Given the description of an element on the screen output the (x, y) to click on. 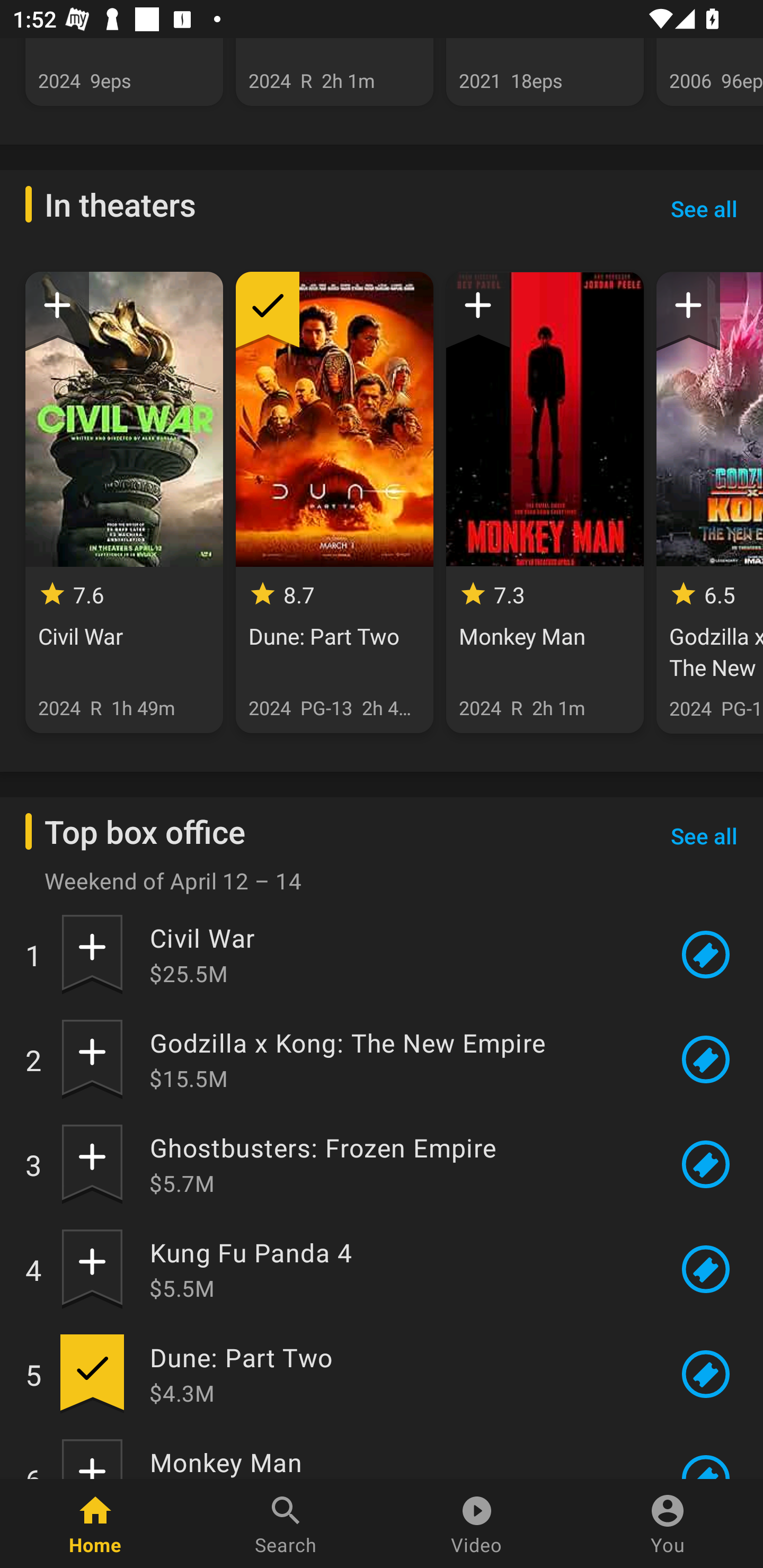
Fallout 2024  9eps (123, 71)
Road House 2024  R  2h 1m (334, 71)
Invincible 2021  18eps (544, 71)
Dexter 2006  96eps (709, 71)
See all See all In theaters (703, 208)
7.6 Civil War 2024  R  1h 49m (123, 502)
8.7 Dune: Part Two 2024  PG-13  2h 46m (334, 502)
7.3 Monkey Man 2024  R  2h 1m (544, 502)
See all See all Top box office (703, 835)
Civil War $25.5M (398, 953)
Godzilla x Kong: The New Empire $15.5M (398, 1058)
Ghostbusters: Frozen Empire $5.7M (398, 1163)
Kung Fu Panda 4 $5.5M (398, 1269)
Monkey Man (398, 1461)
Search (285, 1523)
Video (476, 1523)
You (667, 1523)
